Given the description of an element on the screen output the (x, y) to click on. 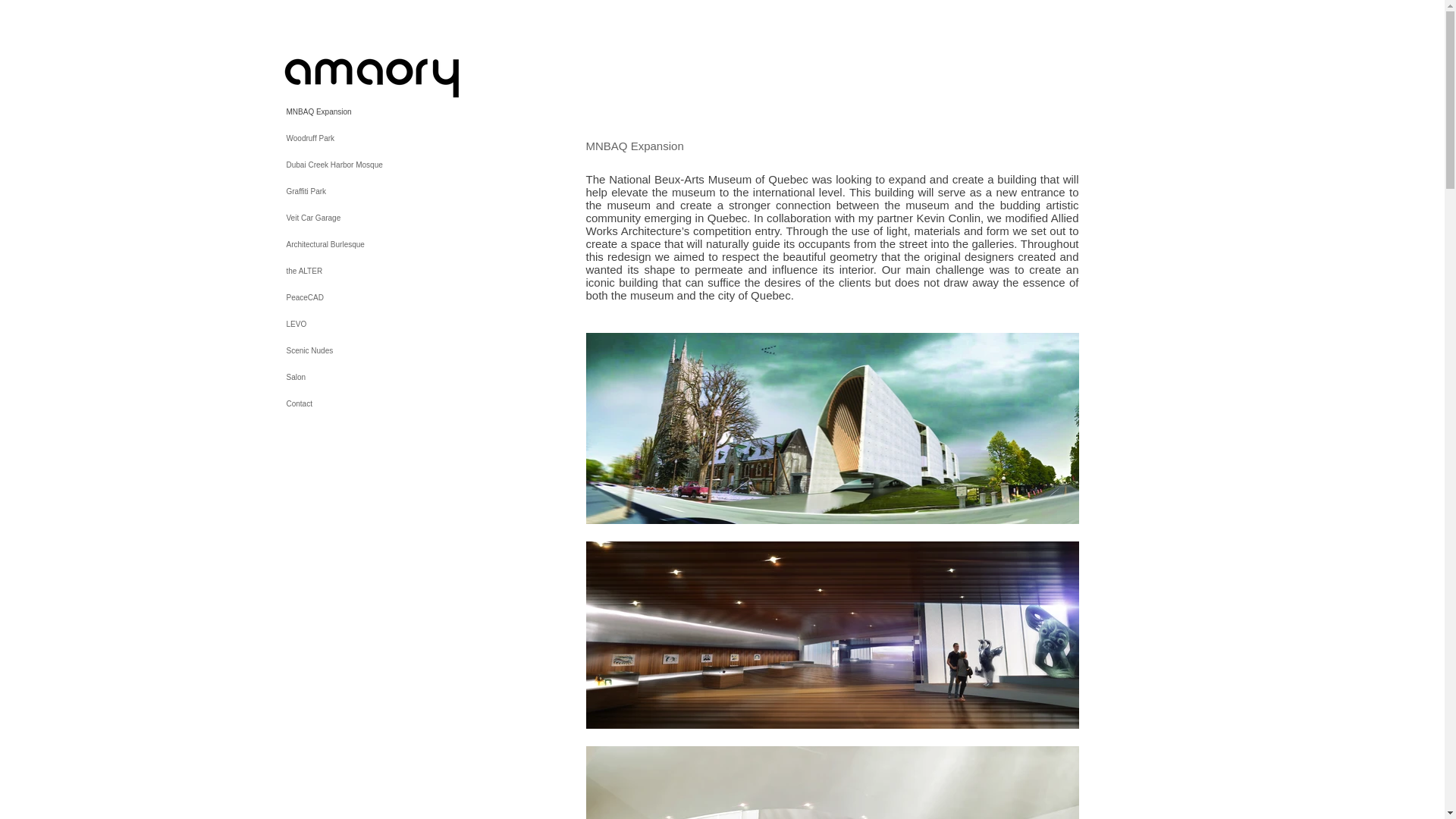
MNBAQ Expansion (389, 111)
Woodruff Park (389, 138)
the ALTER (389, 270)
Salon (389, 376)
Dubai Creek Harbor Mosque (389, 164)
Architectural Burlesque (389, 243)
Veit Car Garage (389, 217)
Scenic Nudes (389, 350)
Graffiti Park (389, 191)
Contact (389, 403)
